Given the description of an element on the screen output the (x, y) to click on. 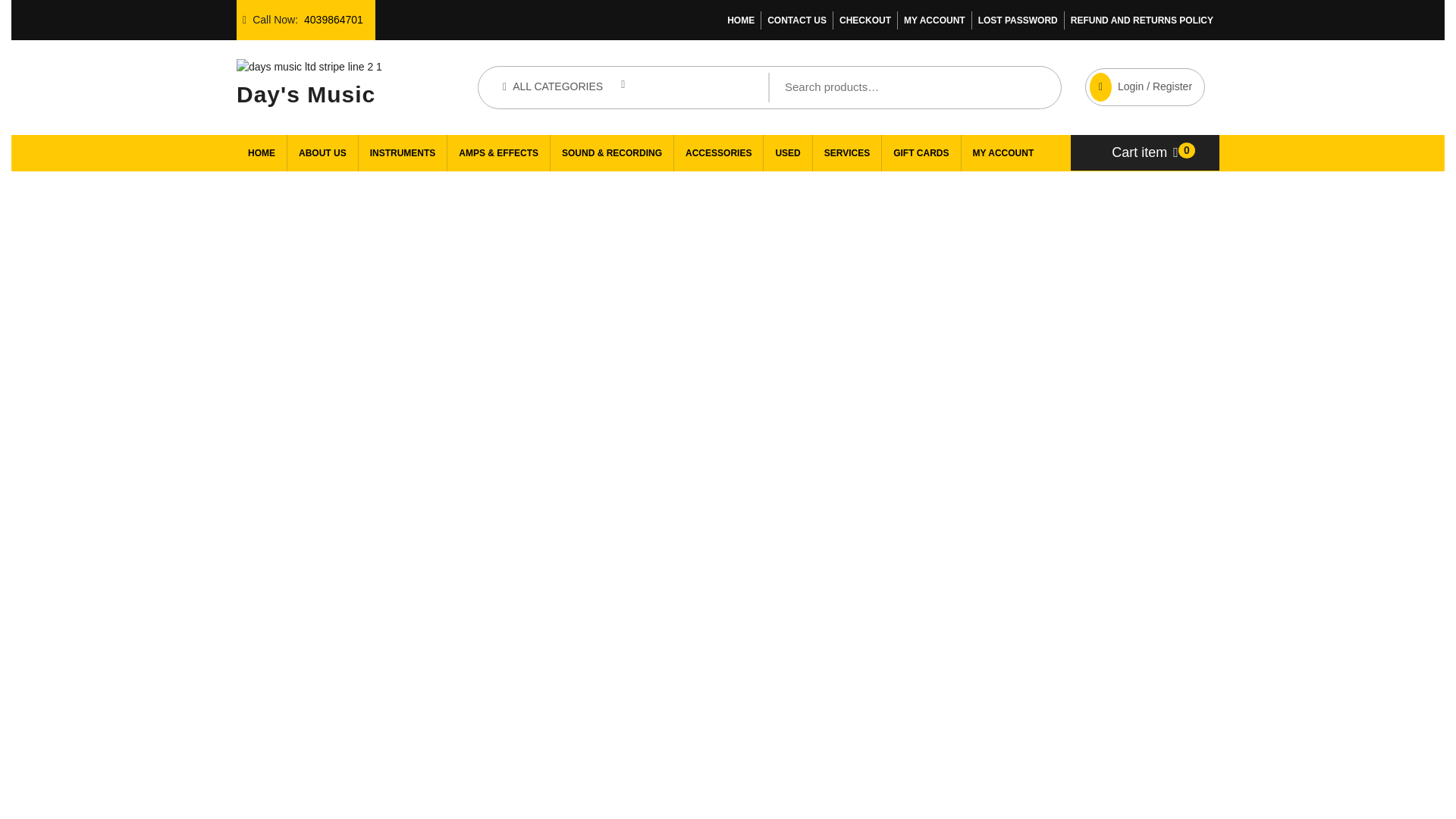
Search (956, 87)
LOST PASSWORD (1018, 19)
ALL CATEGORIES (563, 86)
4039864701 (333, 19)
REFUND AND RETURNS POLICY (1142, 19)
ABOUT US (322, 153)
Day's Music (305, 91)
CHECKOUT (865, 19)
shopping cart (1144, 151)
HOME (740, 19)
